Given the description of an element on the screen output the (x, y) to click on. 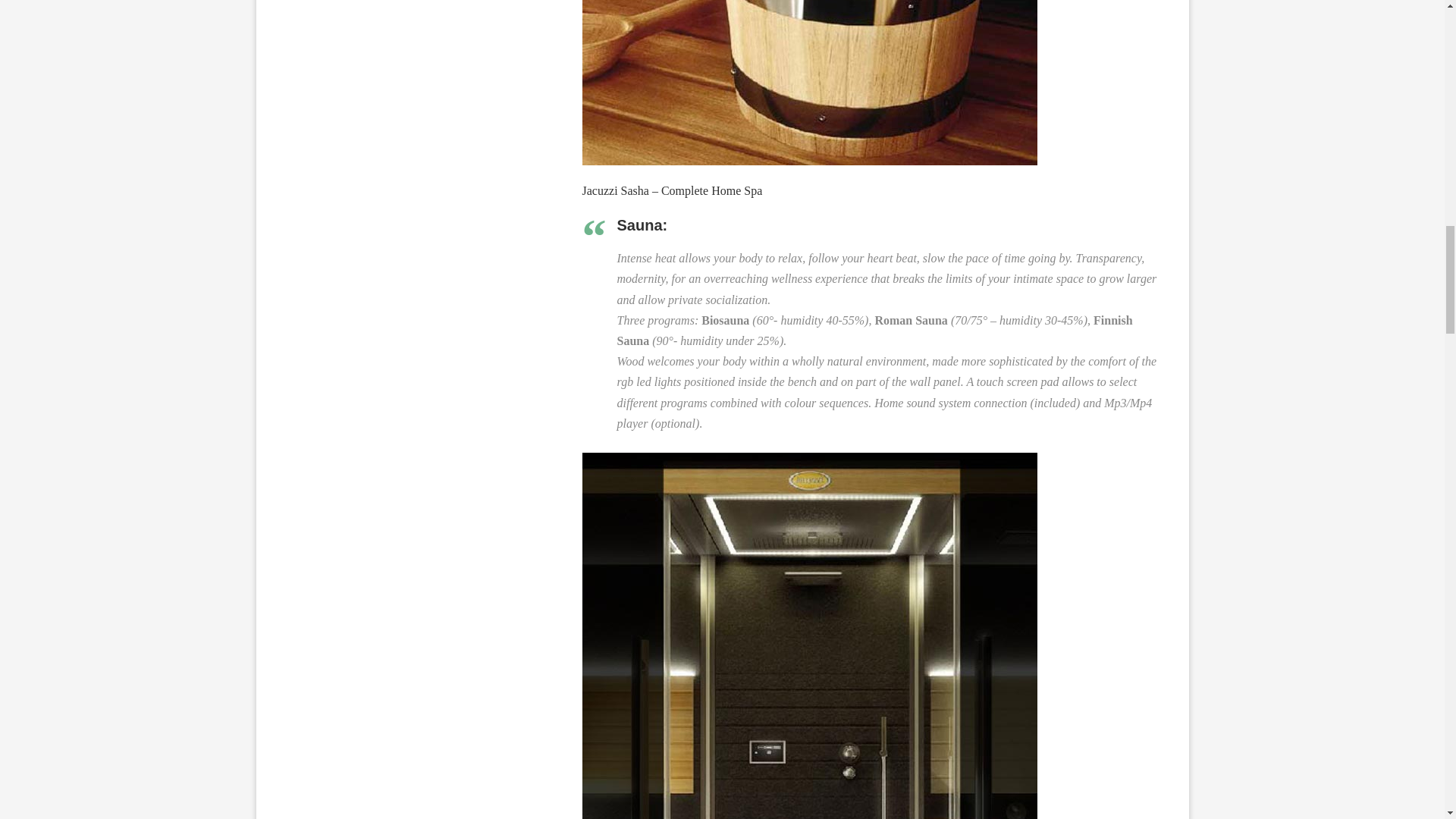
Jacuzzi Sasha - Complete Home Spa (817, 459)
Jacuzzi Sasha - Complete Home Spa (809, 82)
